Given the description of an element on the screen output the (x, y) to click on. 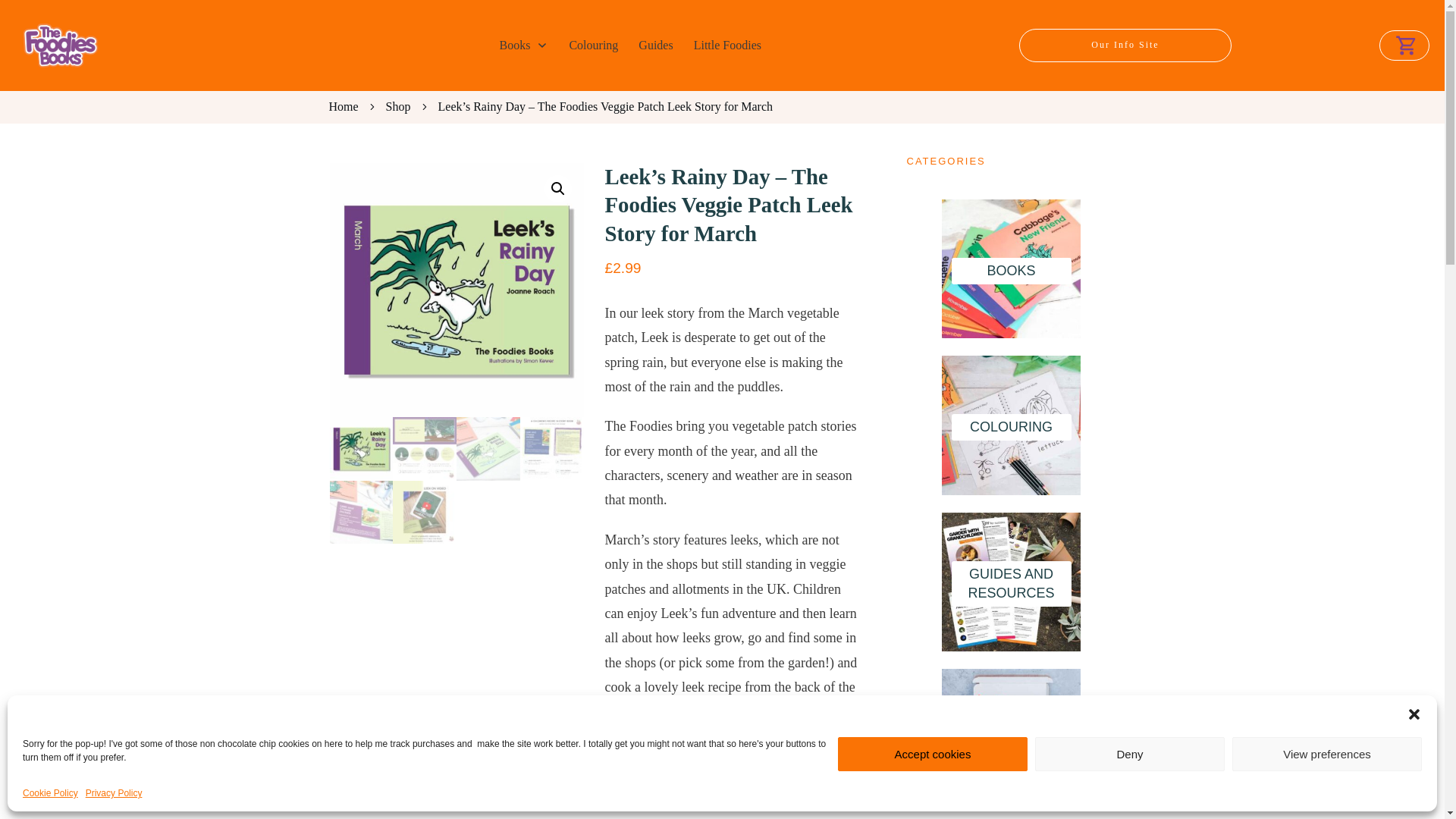
Cookie Policy (50, 793)
Our Info Site (1125, 45)
Privacy Policy (113, 793)
View preferences (1326, 754)
Deny (1129, 754)
Shop (397, 106)
Accept cookies (932, 754)
Guides (655, 45)
Books (523, 45)
